Given the description of an element on the screen output the (x, y) to click on. 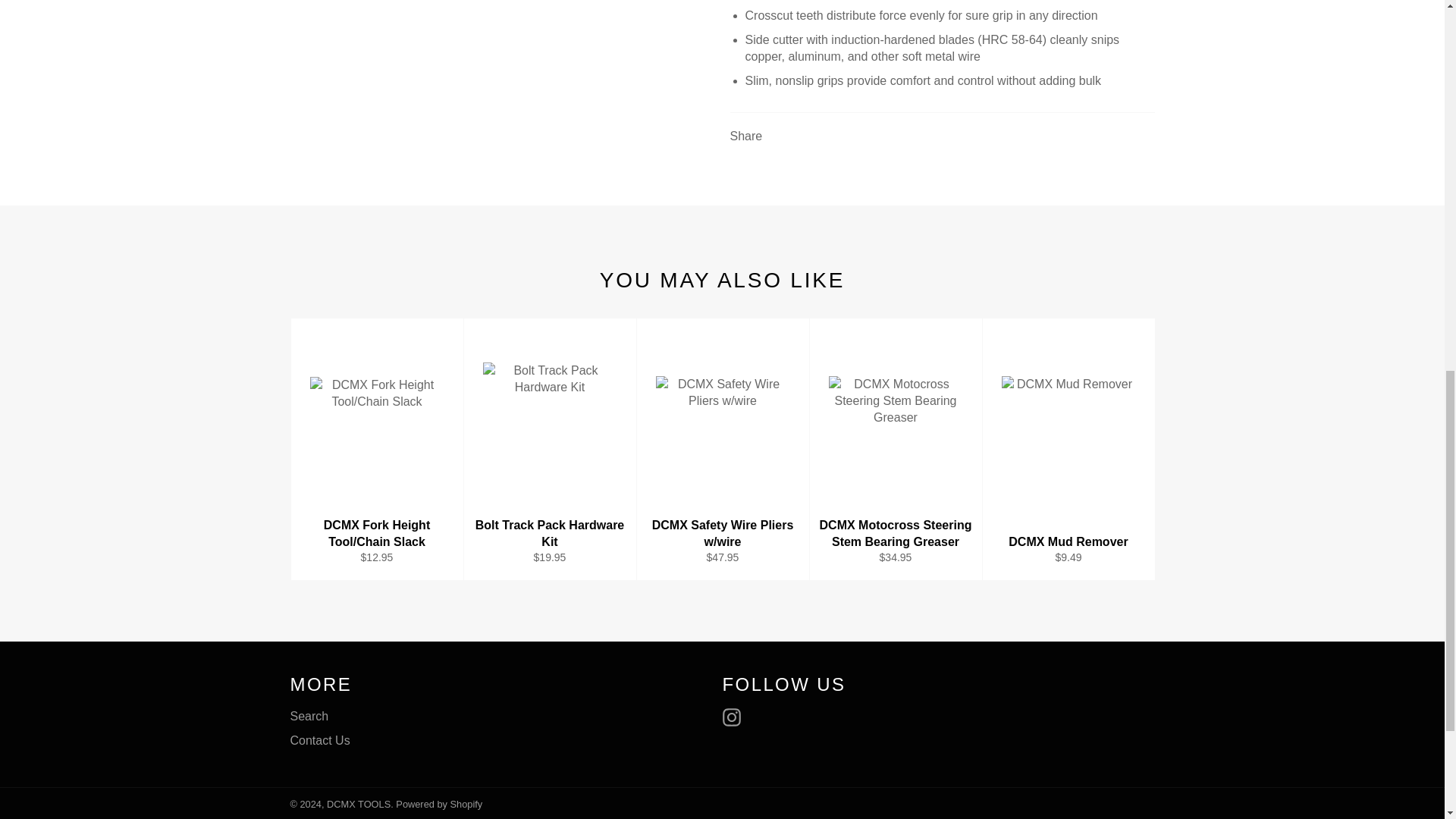
DCMX TOOLS on Instagram (735, 717)
